Given the description of an element on the screen output the (x, y) to click on. 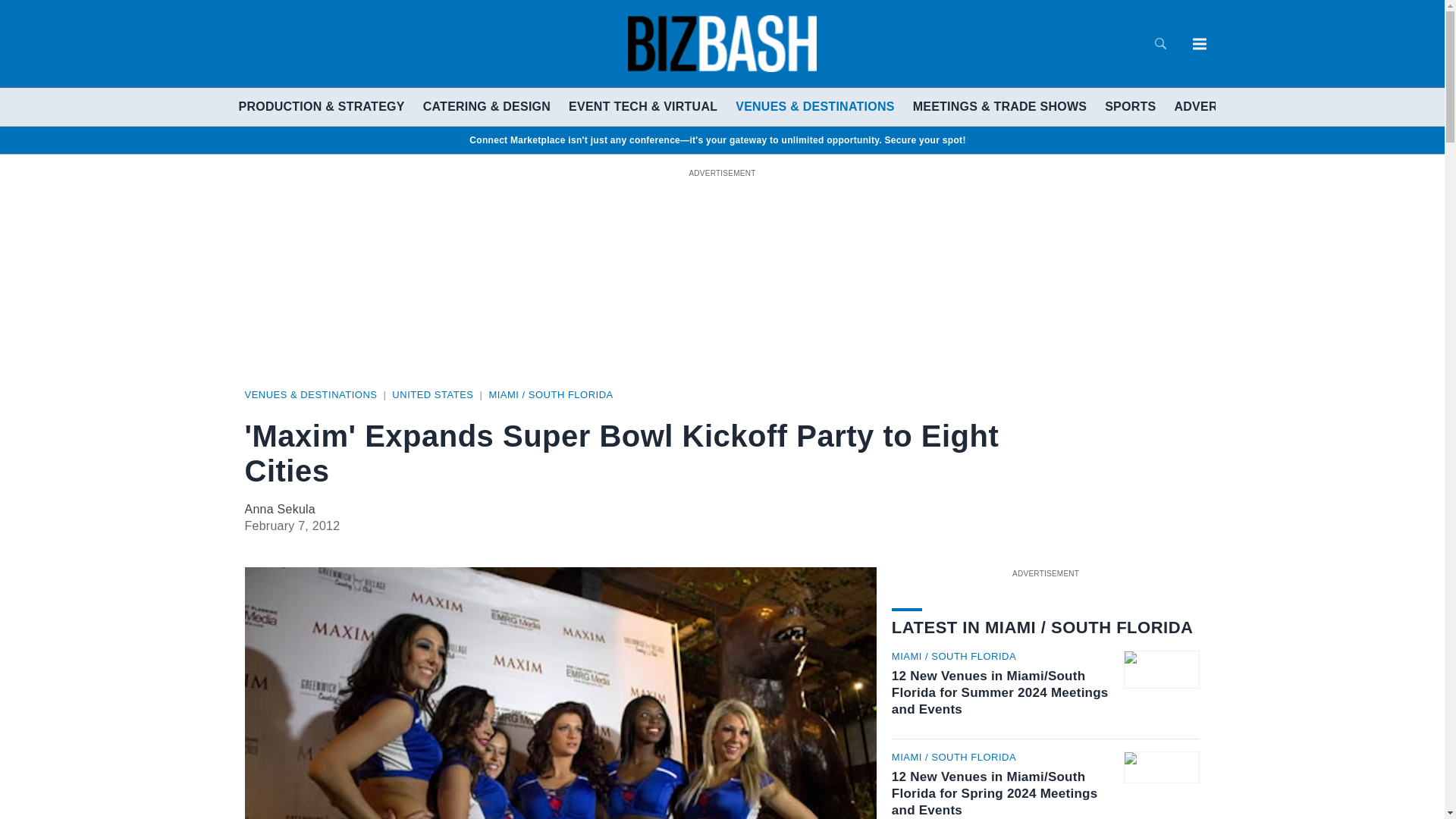
ADVERTISE (1208, 106)
United States (432, 394)
SPORTS (1130, 106)
EVENTS (1288, 106)
